Given the description of an element on the screen output the (x, y) to click on. 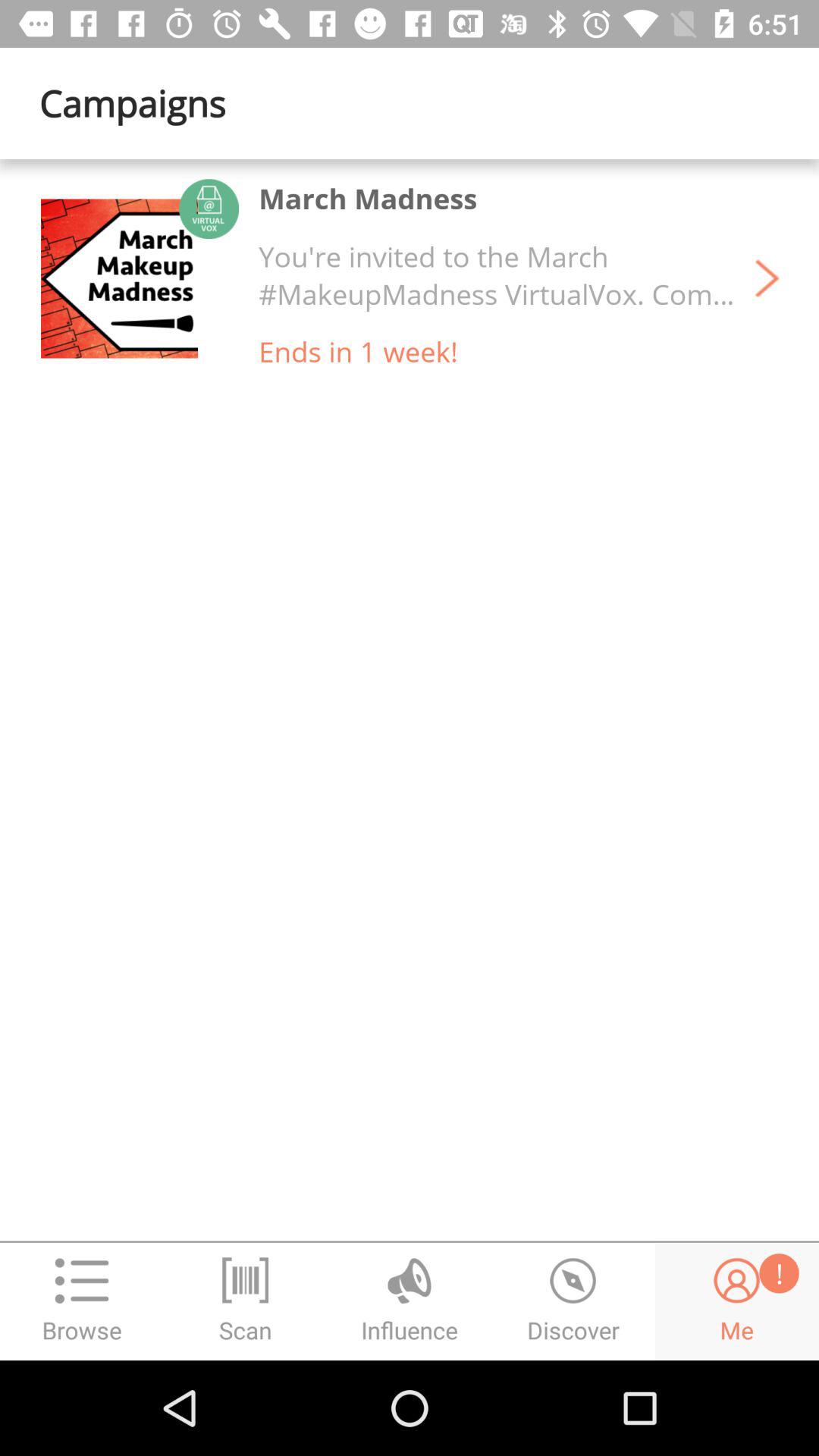
swipe to the march madness item (367, 198)
